Given the description of an element on the screen output the (x, y) to click on. 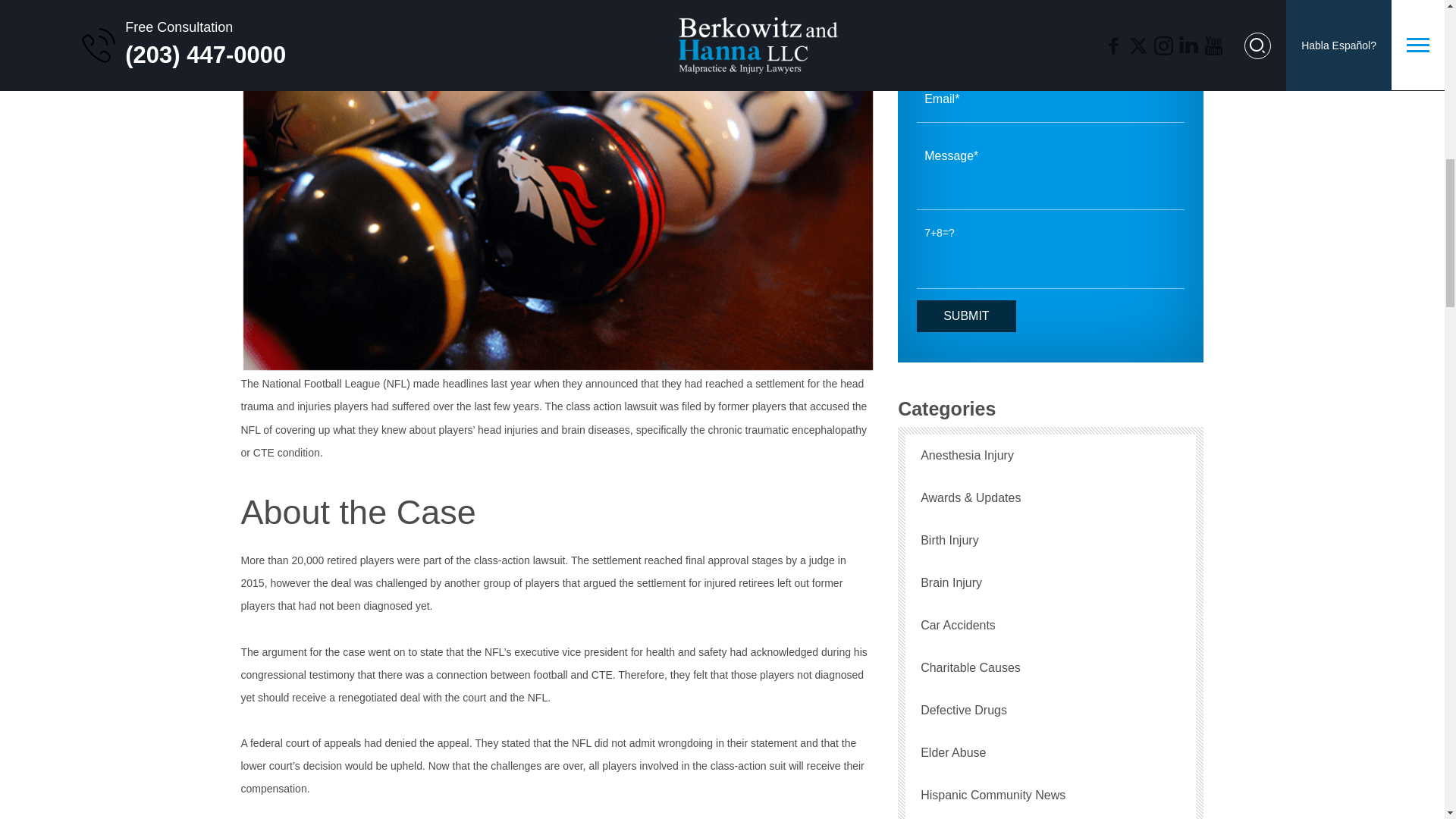
Submit (965, 316)
